Given the description of an element on the screen output the (x, y) to click on. 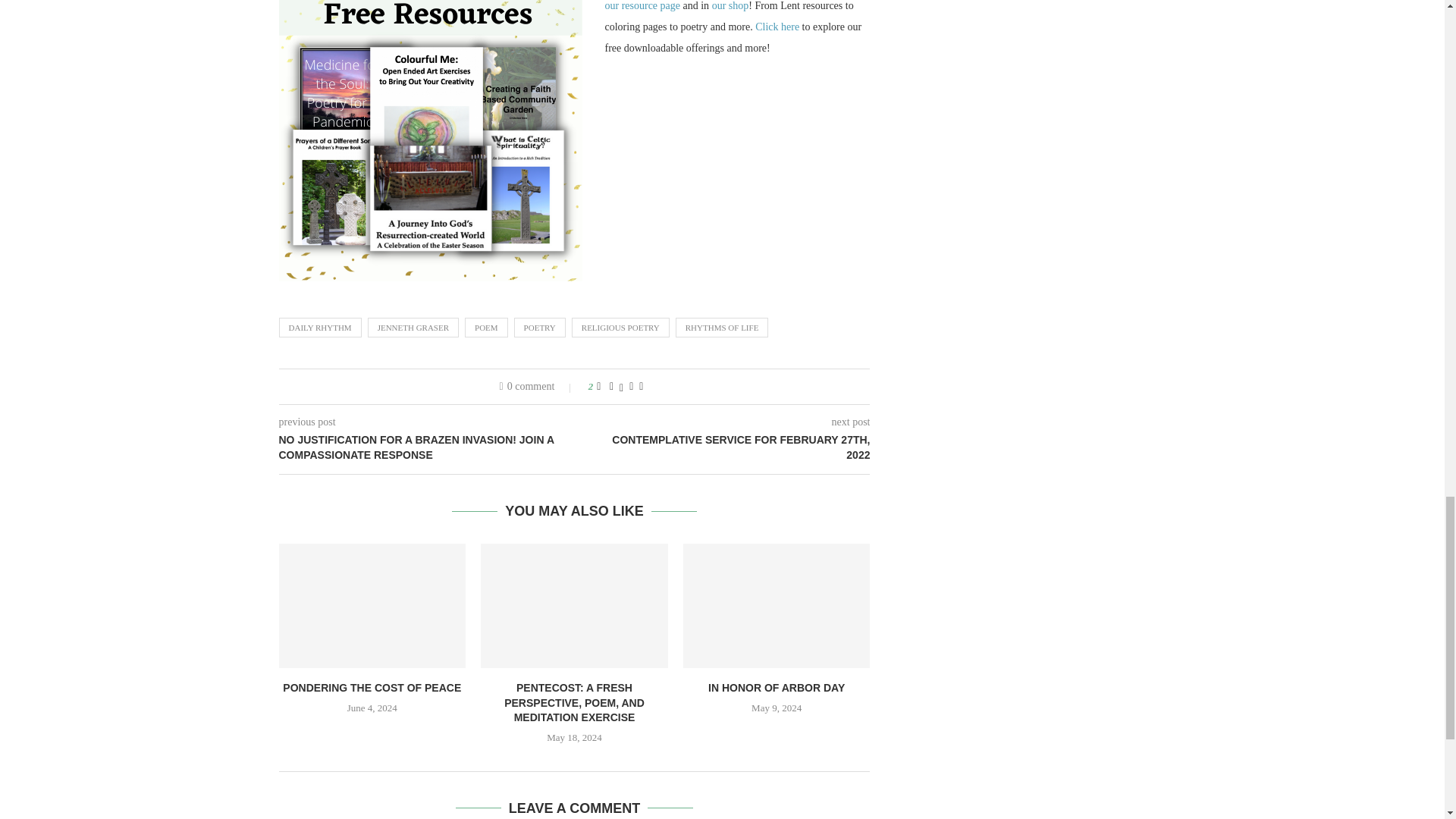
In Honor of Arbor Day (776, 605)
Pondering the Cost of Peace (372, 605)
Blog Ads 400 x 400 28 (430, 140)
